Given the description of an element on the screen output the (x, y) to click on. 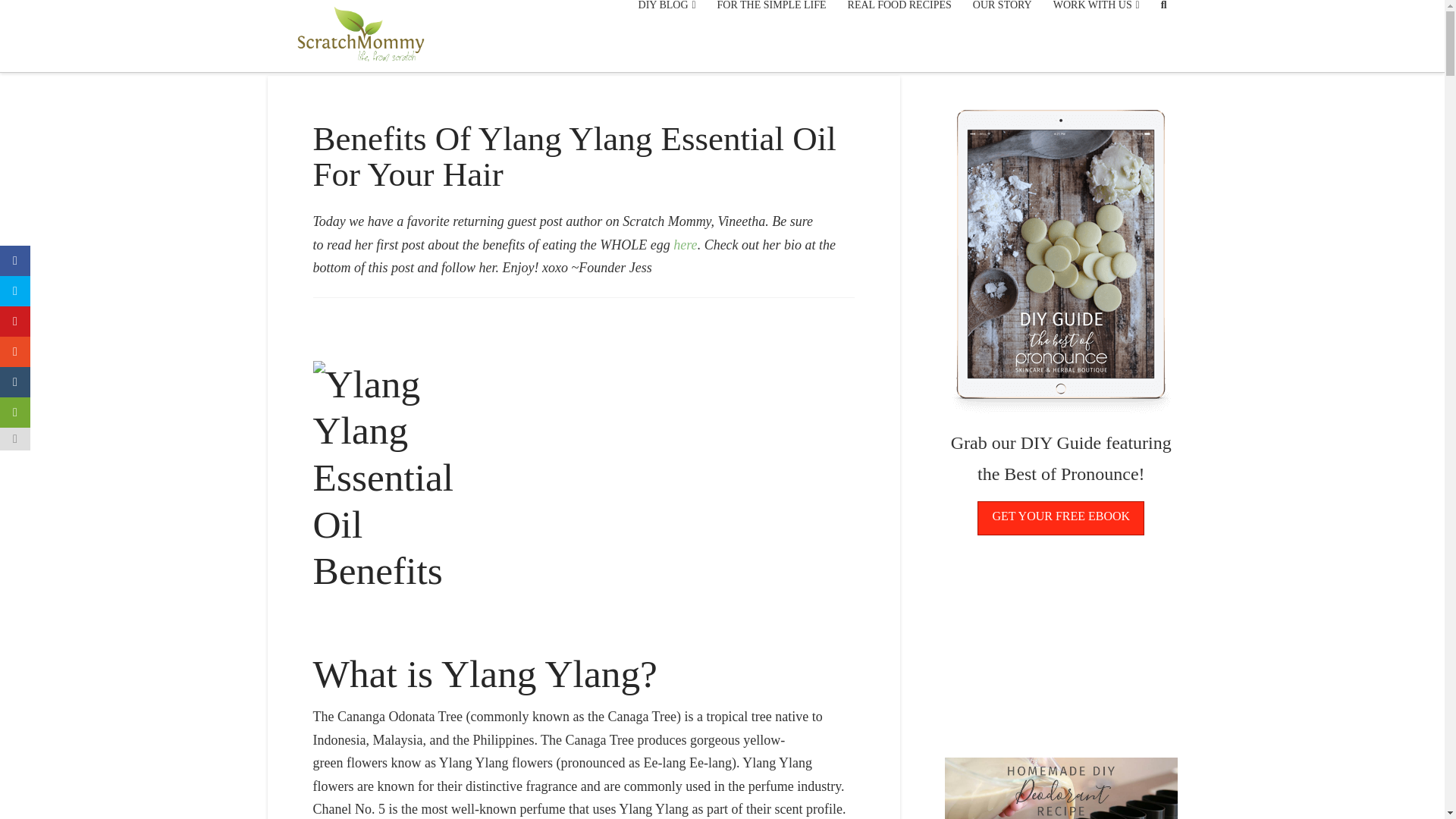
OUR STORY (1002, 22)
WORK WITH US (1096, 22)
FOR THE SIMPLE LIFE (771, 22)
DIY BLOG (666, 22)
here (684, 244)
REAL FOOD RECIPES (899, 22)
